Given the description of an element on the screen output the (x, y) to click on. 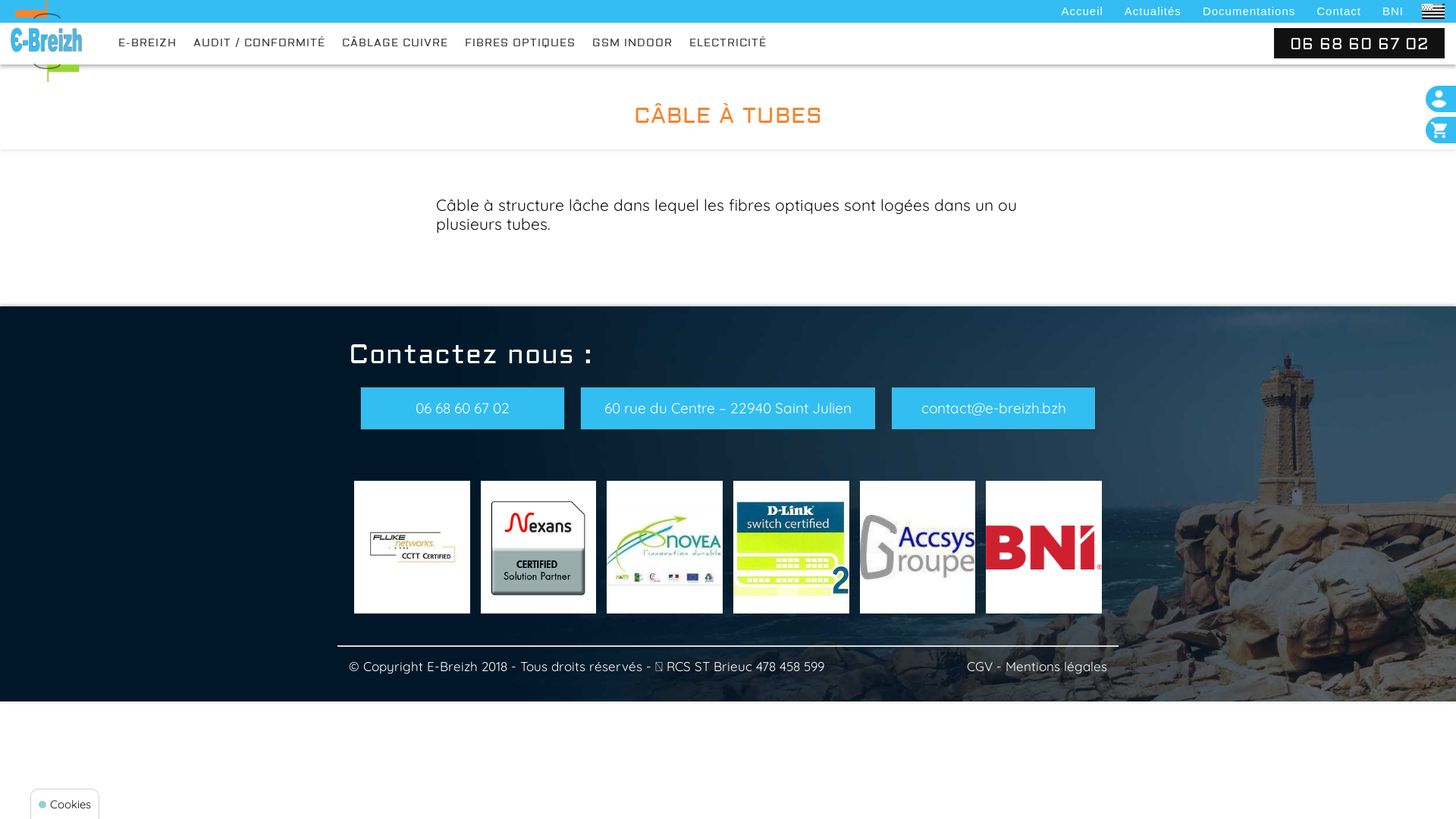
Accueil Element type: text (1081, 10)
Contact Element type: text (1338, 10)
CGV Element type: text (979, 666)
BNI Element type: text (1392, 10)
GSM INDOOR Element type: text (631, 41)
contact@e-breizh.bzh Element type: text (992, 407)
Voir le site en Breton Element type: hover (1432, 9)
Documentations Element type: text (1248, 10)
